Given the description of an element on the screen output the (x, y) to click on. 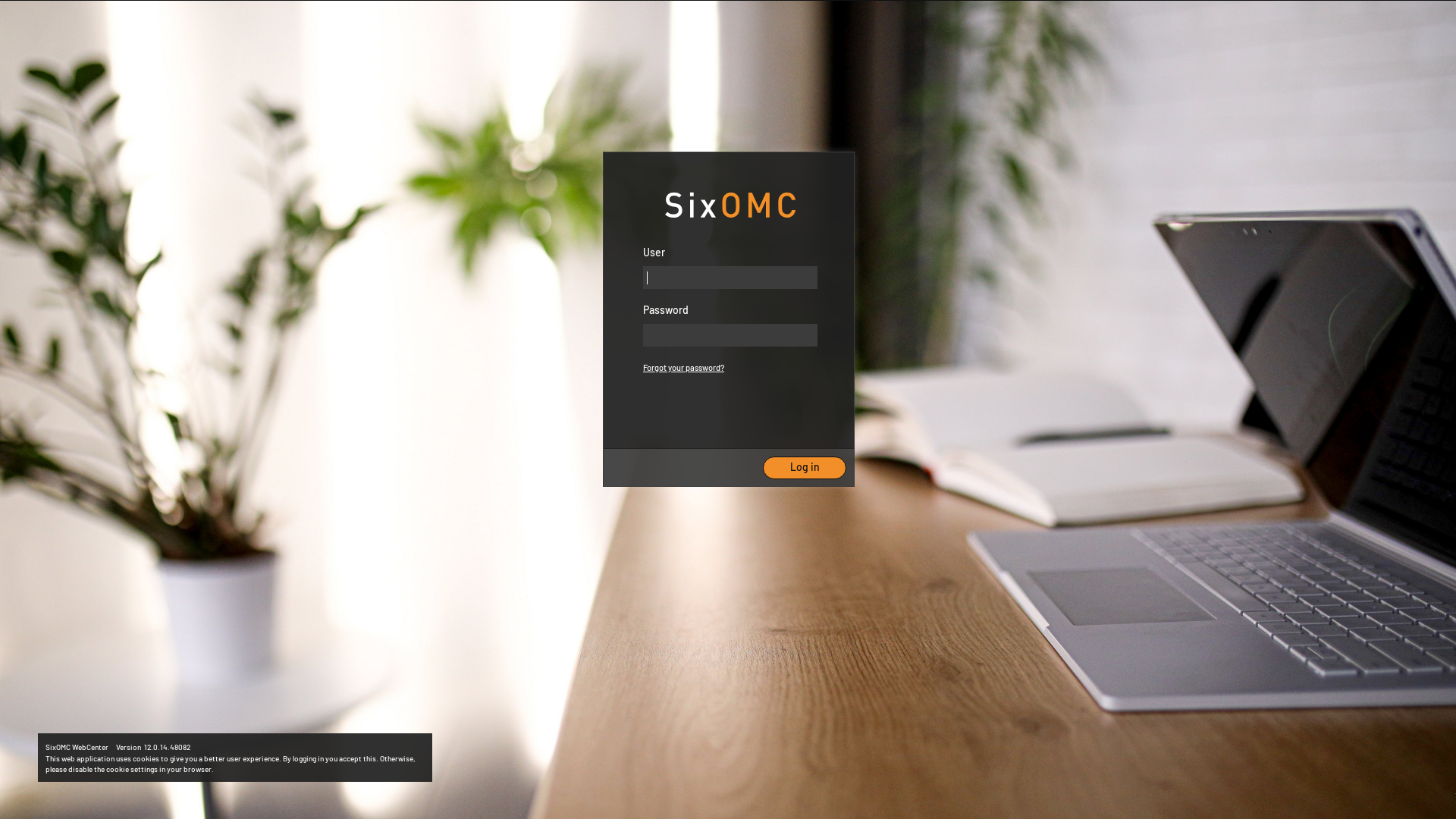
Forgot your password? Element type: text (683, 367)
Log in Element type: text (804, 467)
